Given the description of an element on the screen output the (x, y) to click on. 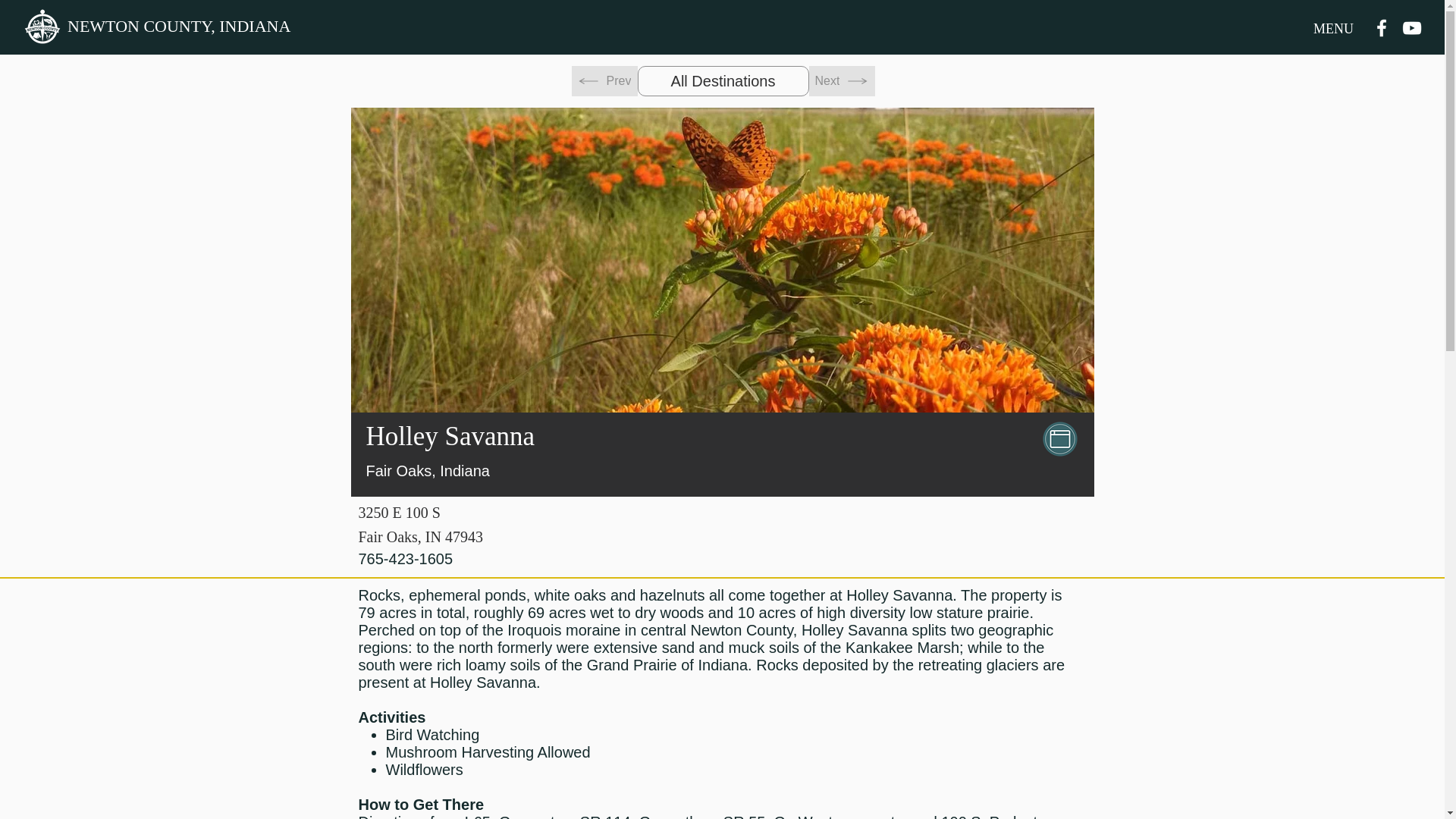
Prev (604, 81)
Next (841, 81)
All Destinations (722, 81)
NEWTON COUNTY, INDIANA (181, 26)
Website (1060, 438)
